Given the description of an element on the screen output the (x, y) to click on. 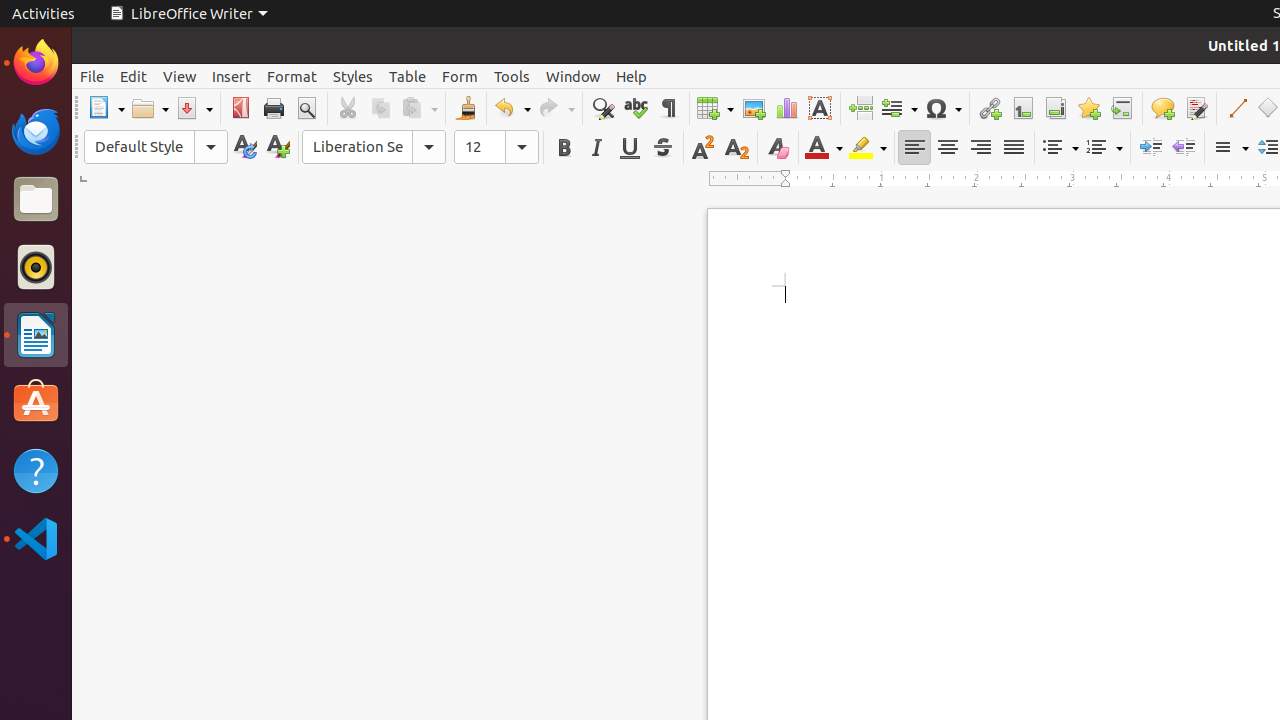
Window Element type: menu (573, 76)
Left Element type: toggle-button (914, 147)
Font Size Element type: text (479, 147)
New Element type: push-button (277, 147)
Strikethrough Element type: toggle-button (662, 147)
